Given the description of an element on the screen output the (x, y) to click on. 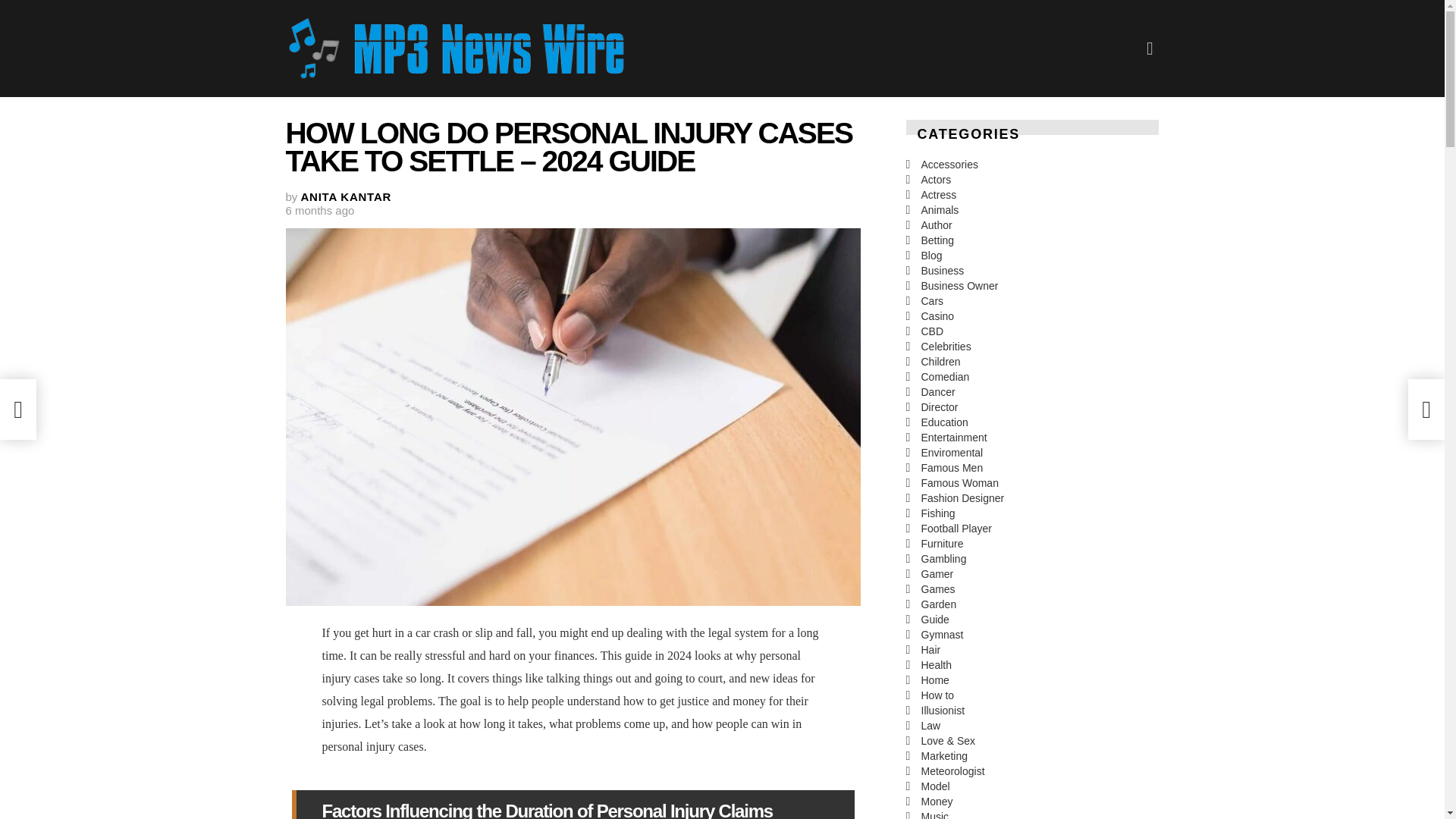
Actors (1031, 179)
Casino (1031, 315)
Business (1031, 270)
Author (1031, 224)
Posts by Anita Kantar (346, 196)
CBD (1031, 331)
Celebrities (1031, 346)
Animals (1031, 209)
Business Owner (1031, 285)
ANITA KANTAR (346, 196)
